Given the description of an element on the screen output the (x, y) to click on. 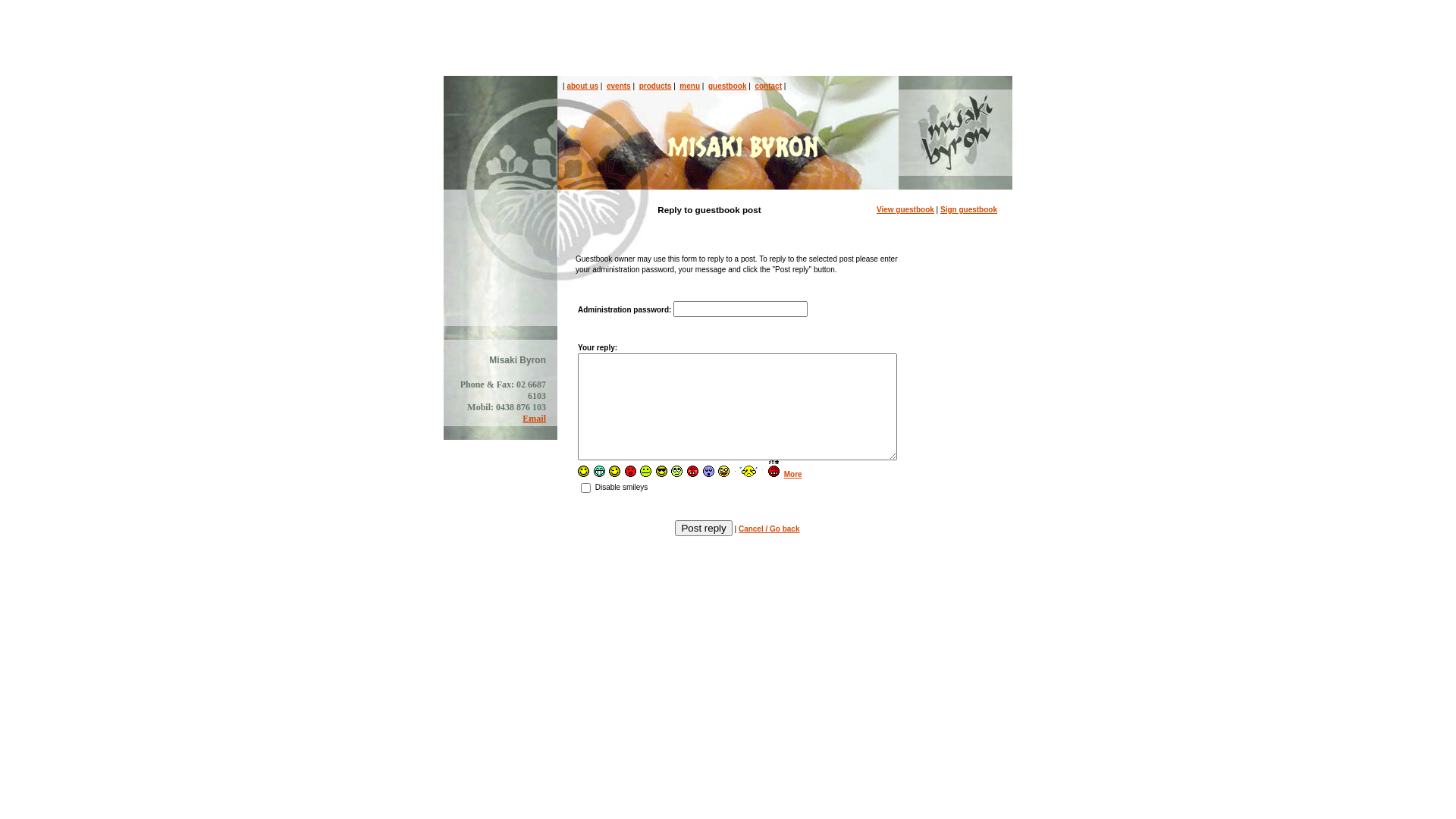
More Element type: text (793, 474)
Cancel / Go back Element type: text (769, 528)
menu Element type: text (689, 85)
View guestbook Element type: text (905, 209)
about us Element type: text (582, 85)
guestbook Element type: text (727, 85)
Sign guestbook Element type: text (968, 209)
products Element type: text (655, 85)
Email Element type: text (534, 418)
events Element type: text (618, 85)
contact Element type: text (767, 85)
Post reply Element type: text (702, 528)
